Given the description of an element on the screen output the (x, y) to click on. 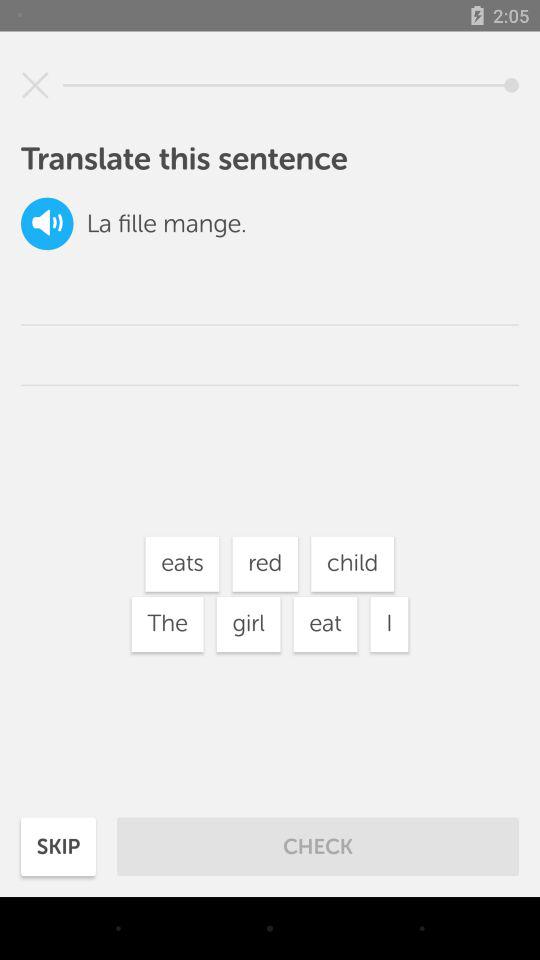
close button (35, 85)
